Given the description of an element on the screen output the (x, y) to click on. 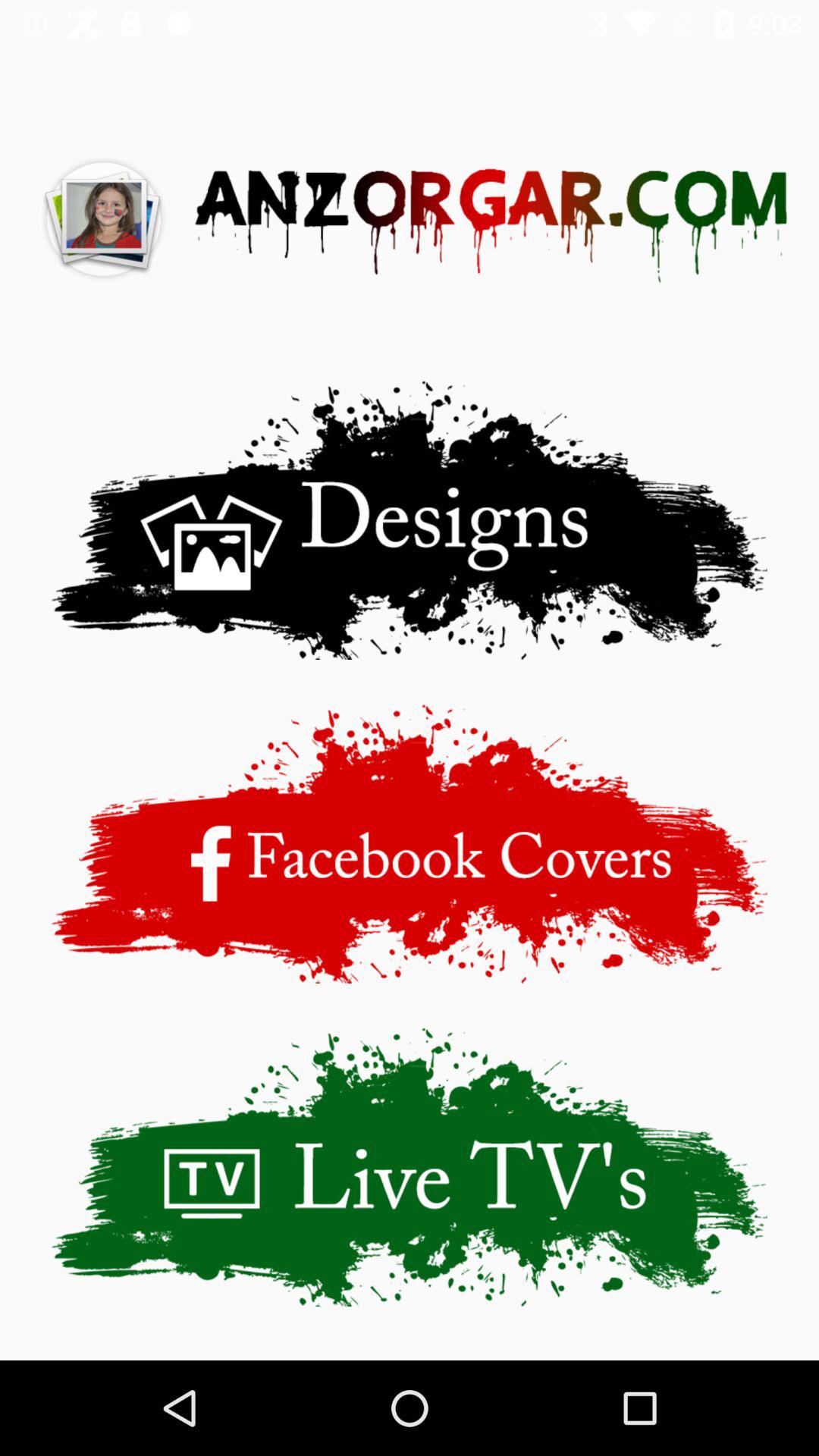
go to the designs (409, 520)
